Given the description of an element on the screen output the (x, y) to click on. 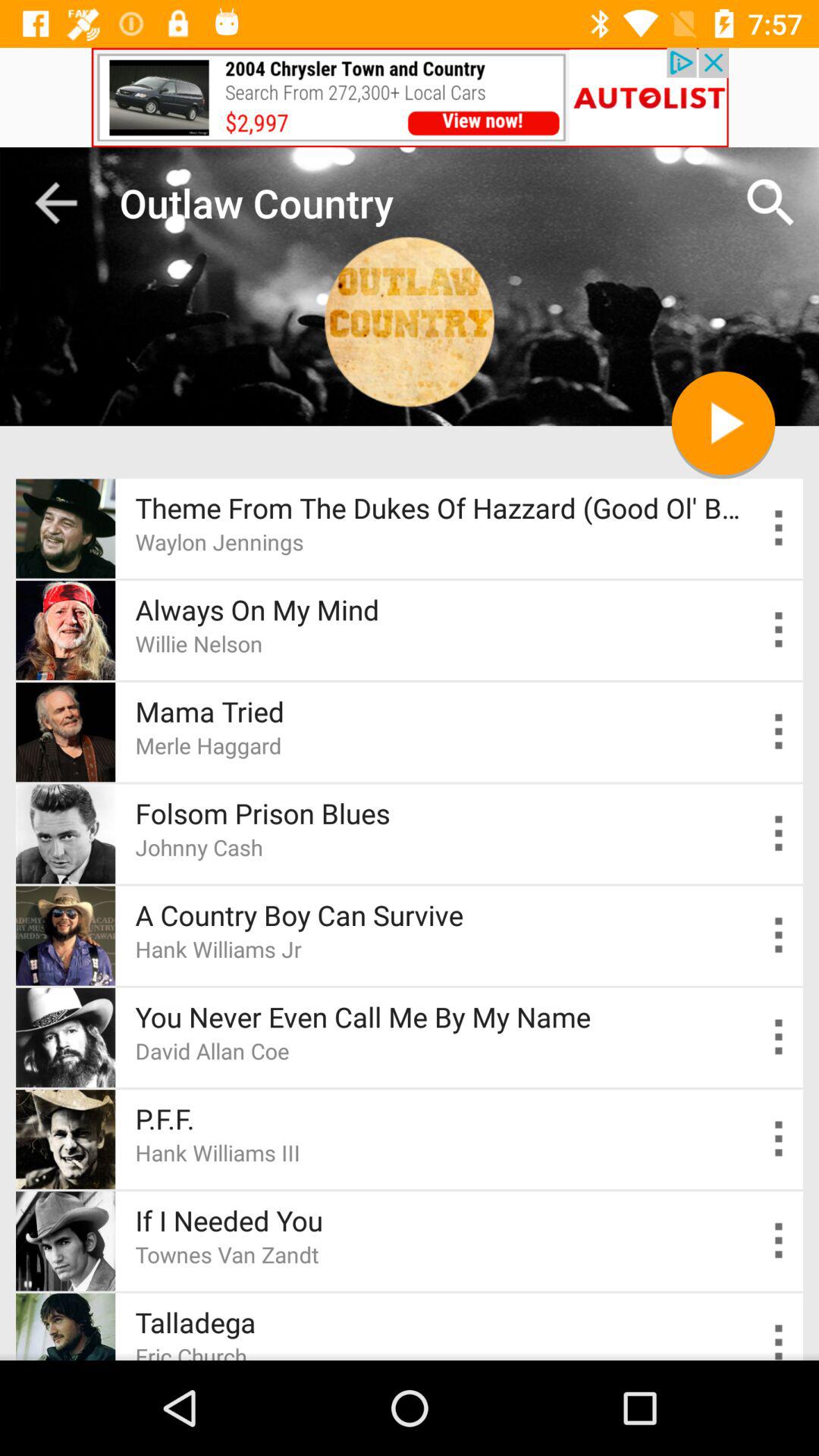
options of p.f.f (779, 1139)
